Given the description of an element on the screen output the (x, y) to click on. 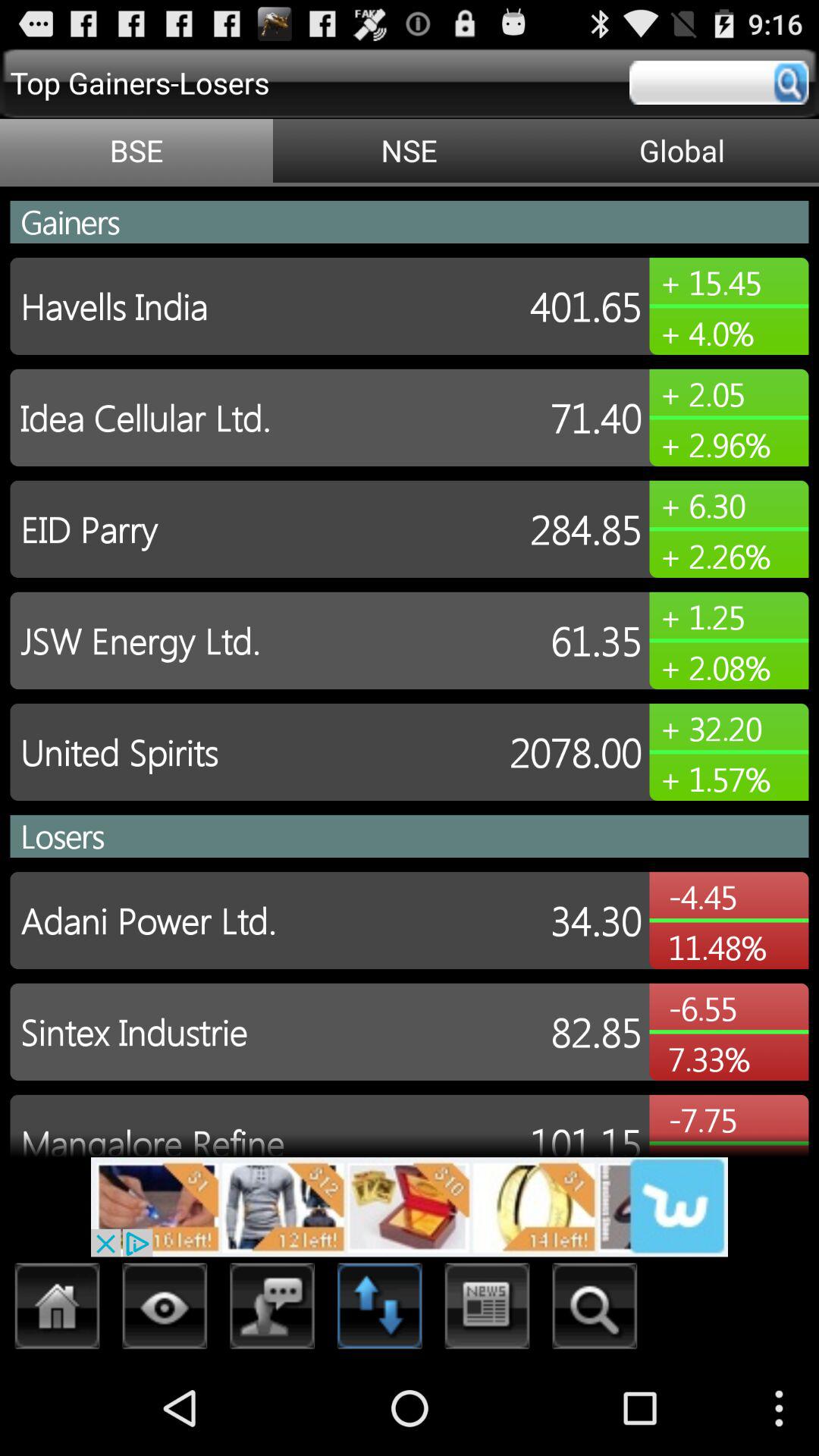
open chat (272, 1310)
